Given the description of an element on the screen output the (x, y) to click on. 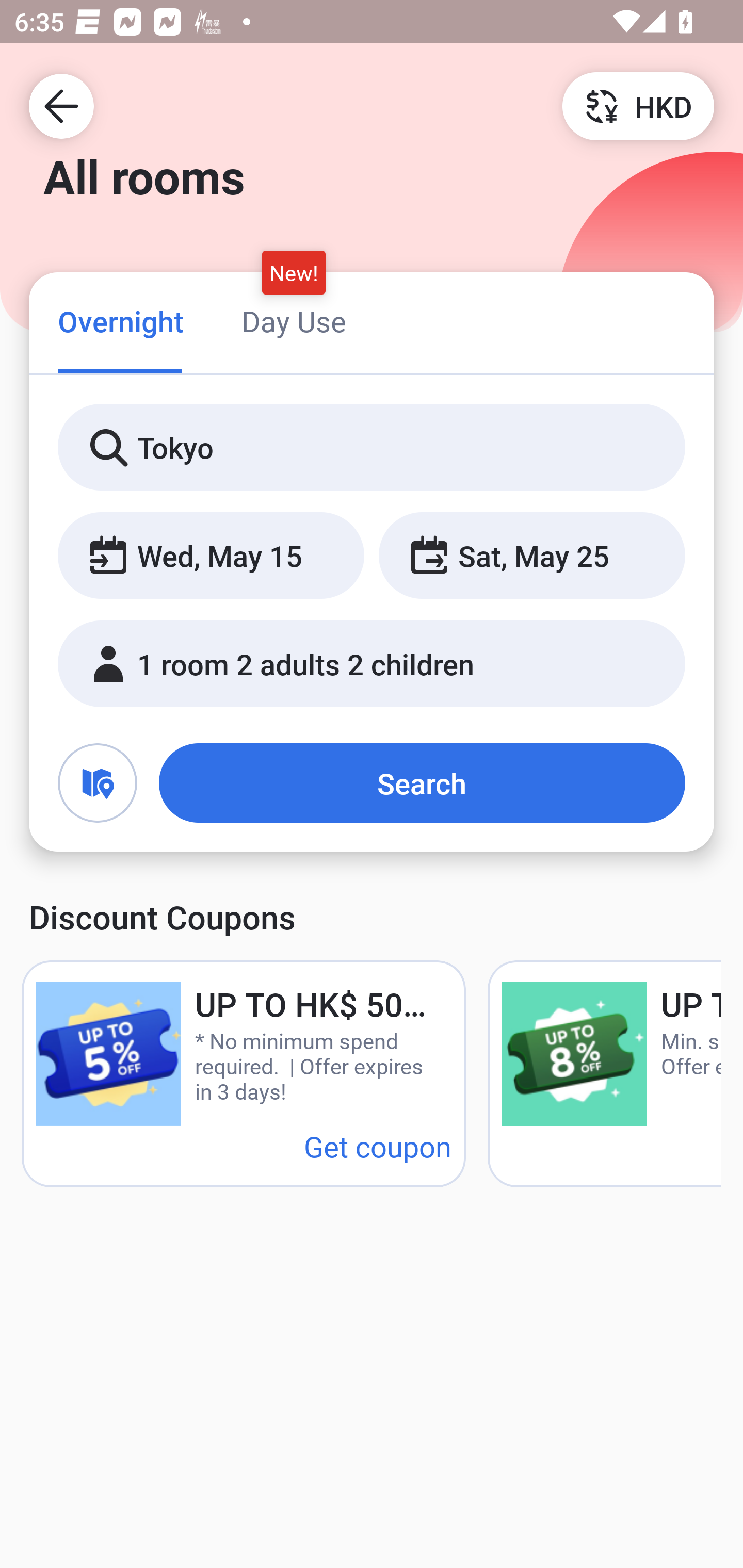
HKD (638, 105)
New! (294, 272)
Day Use (293, 321)
Tokyo (371, 447)
Wed, May 15 (210, 555)
Sat, May 25 (531, 555)
1 room 2 adults 2 children (371, 663)
Search (422, 783)
Get coupon (377, 1146)
